Given the description of an element on the screen output the (x, y) to click on. 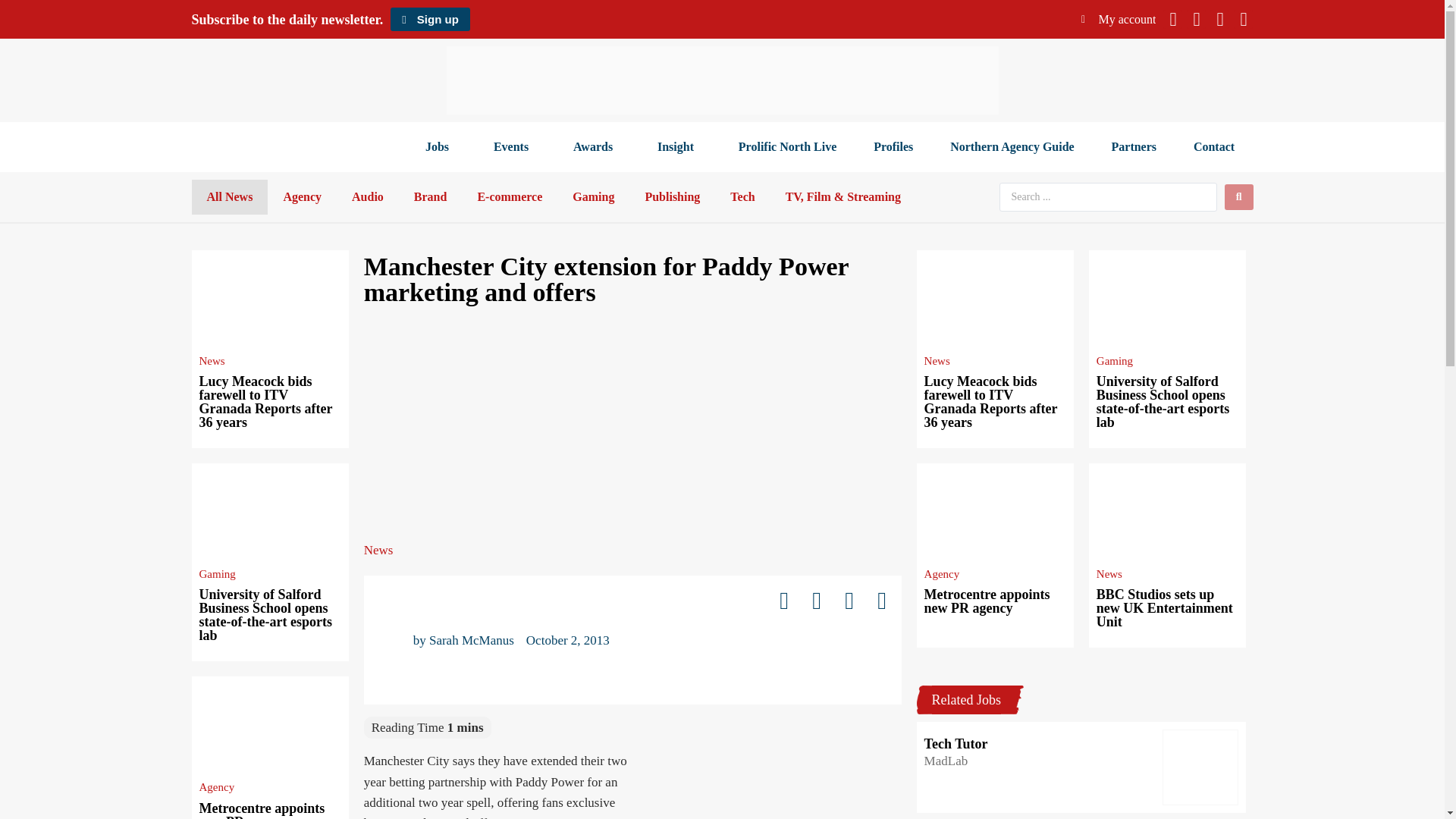
Jobs (440, 146)
My account (1118, 19)
Sign up (429, 19)
Awards (596, 146)
Events (514, 146)
